Given the description of an element on the screen output the (x, y) to click on. 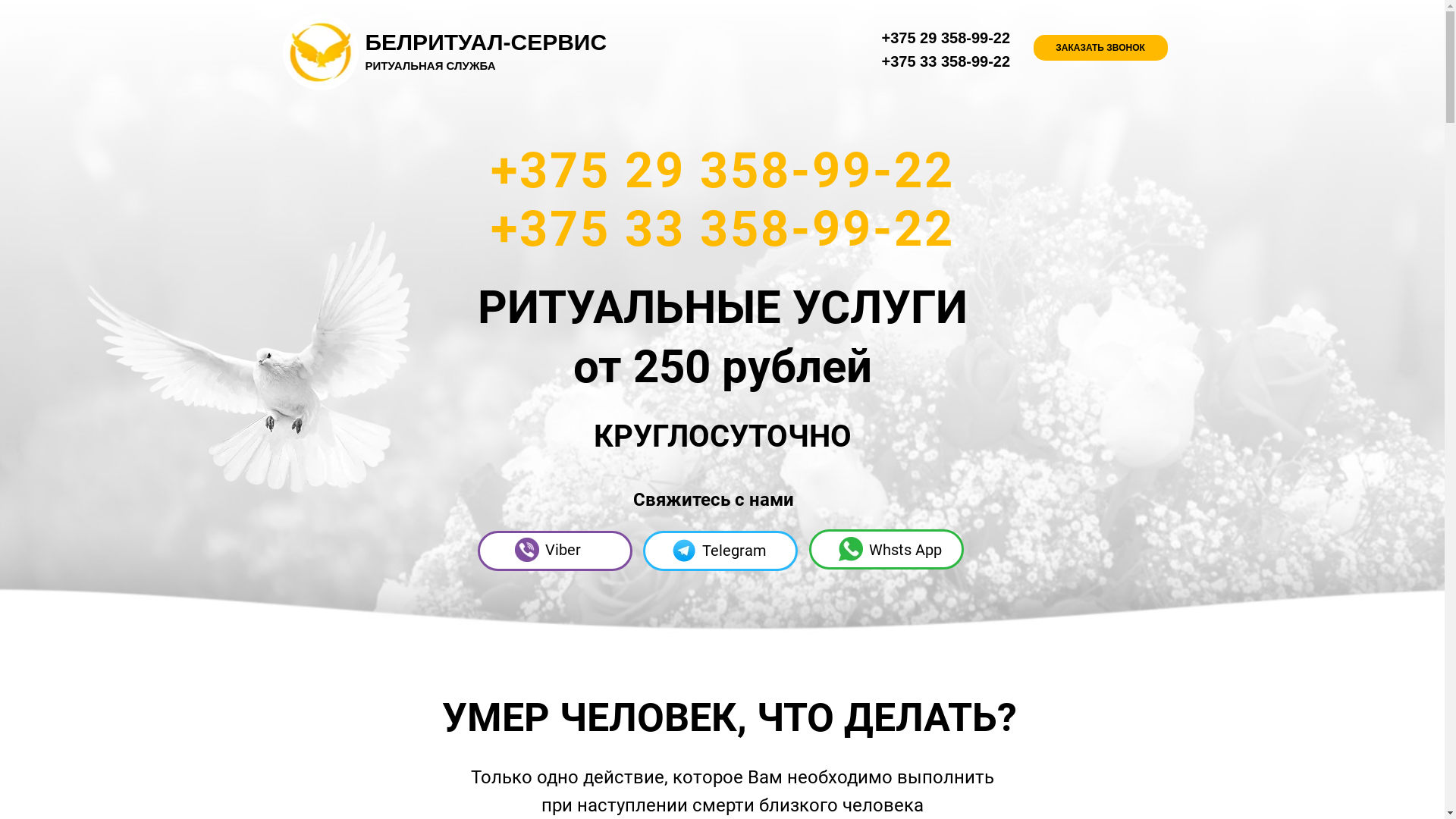
+375 33 358-99-22 Element type: text (945, 61)
+375 29 358-99-22 Element type: text (945, 37)
Telegram Element type: text (734, 550)
+375 29 358-99-22 Element type: text (721, 170)
Viber Element type: text (562, 549)
+375 33 358-99-22 Element type: text (721, 228)
Whsts App Element type: text (905, 549)
